Given the description of an element on the screen output the (x, y) to click on. 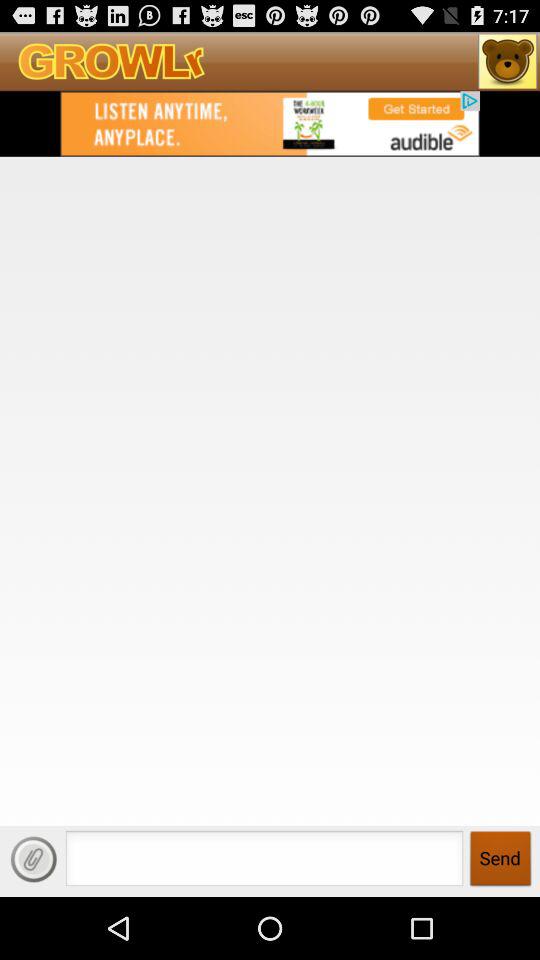
open advertisement (270, 123)
